Given the description of an element on the screen output the (x, y) to click on. 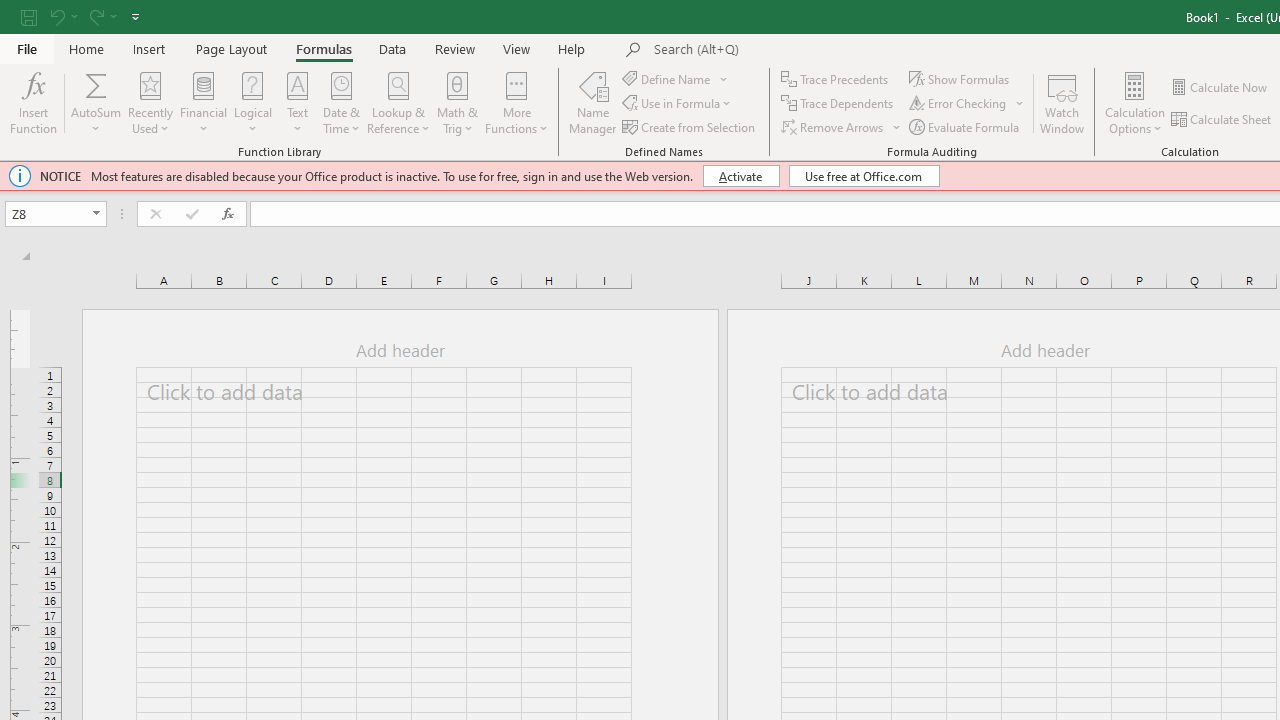
Calculate Now (1220, 87)
Use free at Office.com (863, 175)
Calculation Options (1135, 102)
Create from Selection... (690, 126)
Error Checking... (967, 103)
Financial (203, 102)
Lookup & Reference (398, 102)
Logical (253, 102)
Sum (96, 84)
Trace Precedents (836, 78)
